Given the description of an element on the screen output the (x, y) to click on. 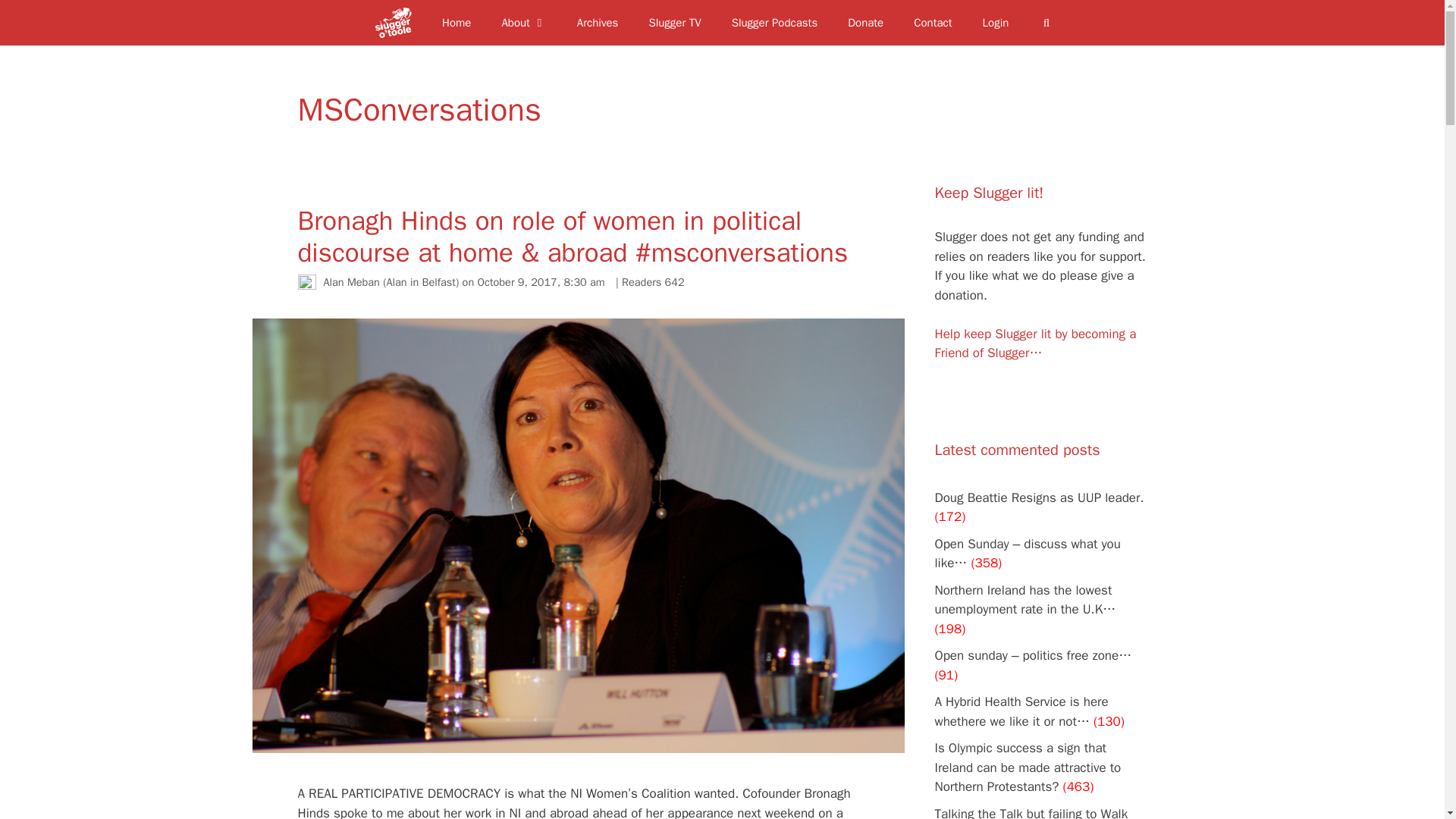
Donate (865, 22)
Login (996, 22)
Slugger Podcasts (774, 22)
About (523, 22)
Contact (932, 22)
Home (456, 22)
Slugger O'Toole (397, 22)
Slugger TV (674, 22)
Archives (597, 22)
